Given the description of an element on the screen output the (x, y) to click on. 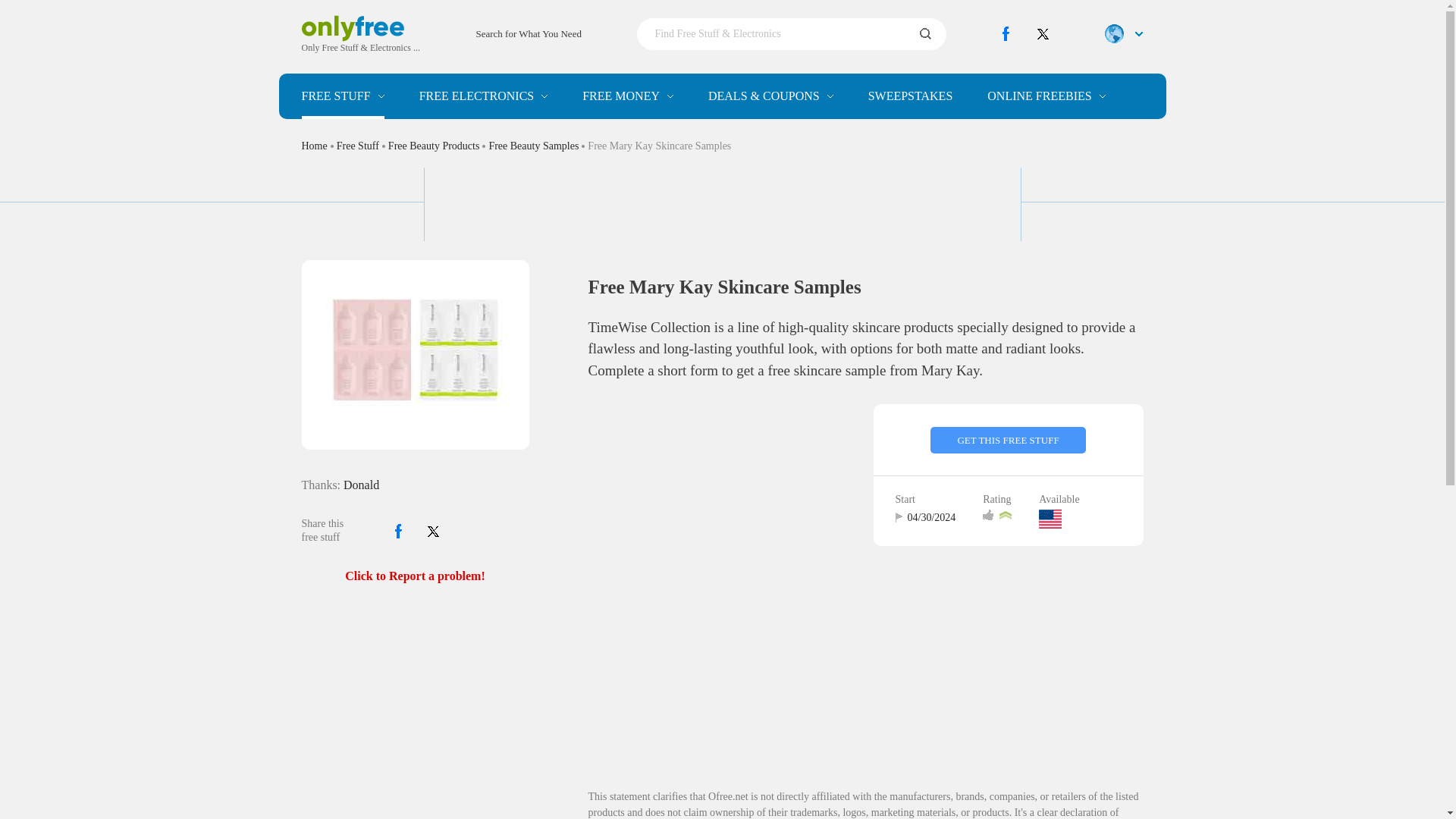
Only Free on Twitter (1042, 33)
FREE STUFF (342, 95)
Free Stuff (342, 95)
